Given the description of an element on the screen output the (x, y) to click on. 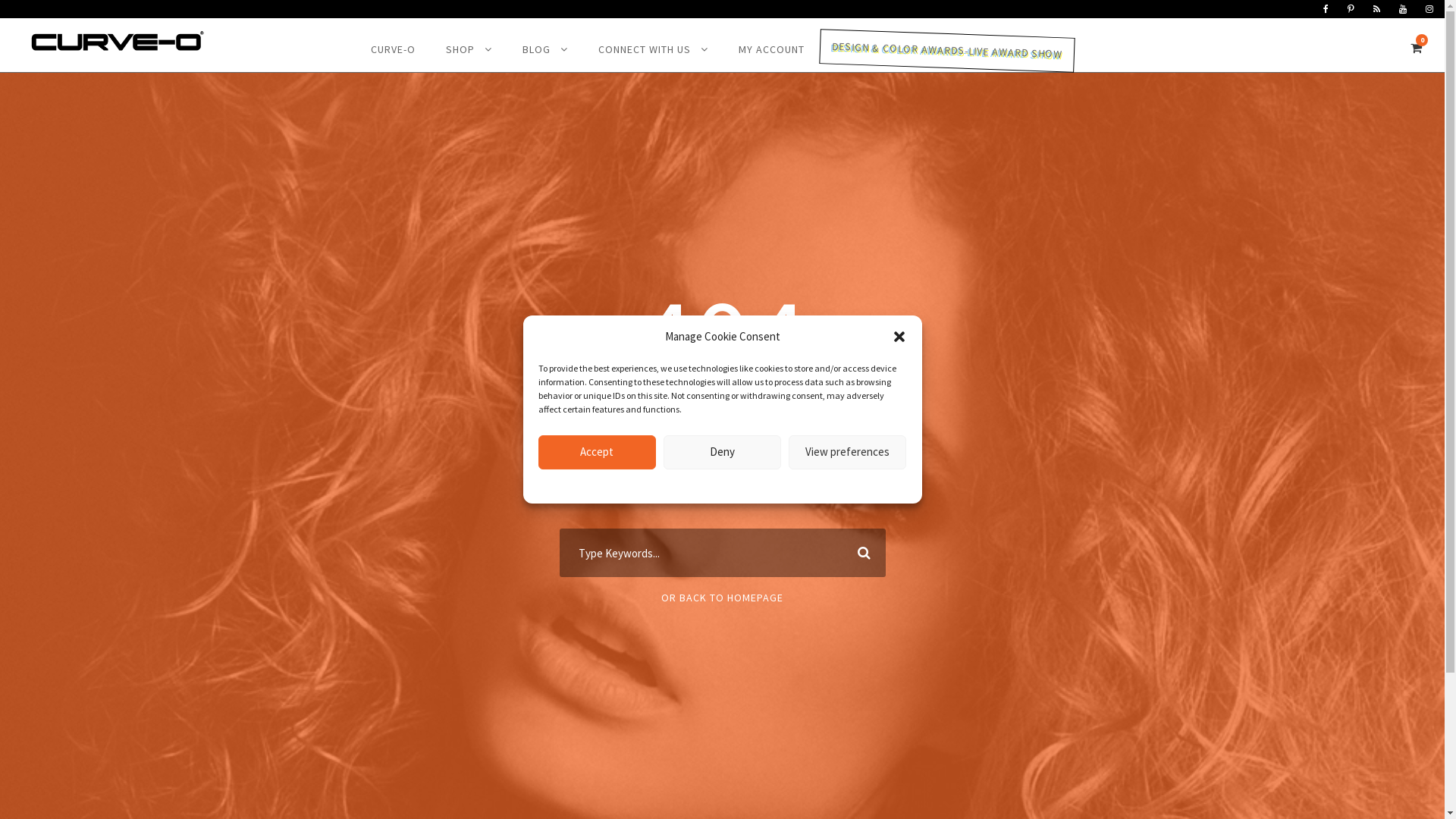
Logo-2018-DEF Element type: hover (117, 40)
instagram Element type: hover (1429, 8)
CURVE-O Element type: text (392, 53)
DESIGN & COLOR AWARDS-LIVE AWARD SHOW Element type: text (946, 50)
Search Element type: text (860, 552)
View preferences Element type: text (847, 452)
MY ACCOUNT Element type: text (771, 53)
facebook Element type: hover (1325, 8)
SHOP Element type: text (468, 53)
Cookie policy Element type: text (692, 484)
OR BACK TO HOMEPAGE Element type: text (722, 597)
Deny Element type: text (722, 452)
Accept Element type: text (596, 452)
Privacy Policy Element type: text (751, 484)
BLOG Element type: text (544, 53)
pinterest Element type: hover (1350, 8)
youtube Element type: hover (1402, 8)
rss Element type: hover (1376, 8)
CONNECT WITH US Element type: text (652, 53)
